Given the description of an element on the screen output the (x, y) to click on. 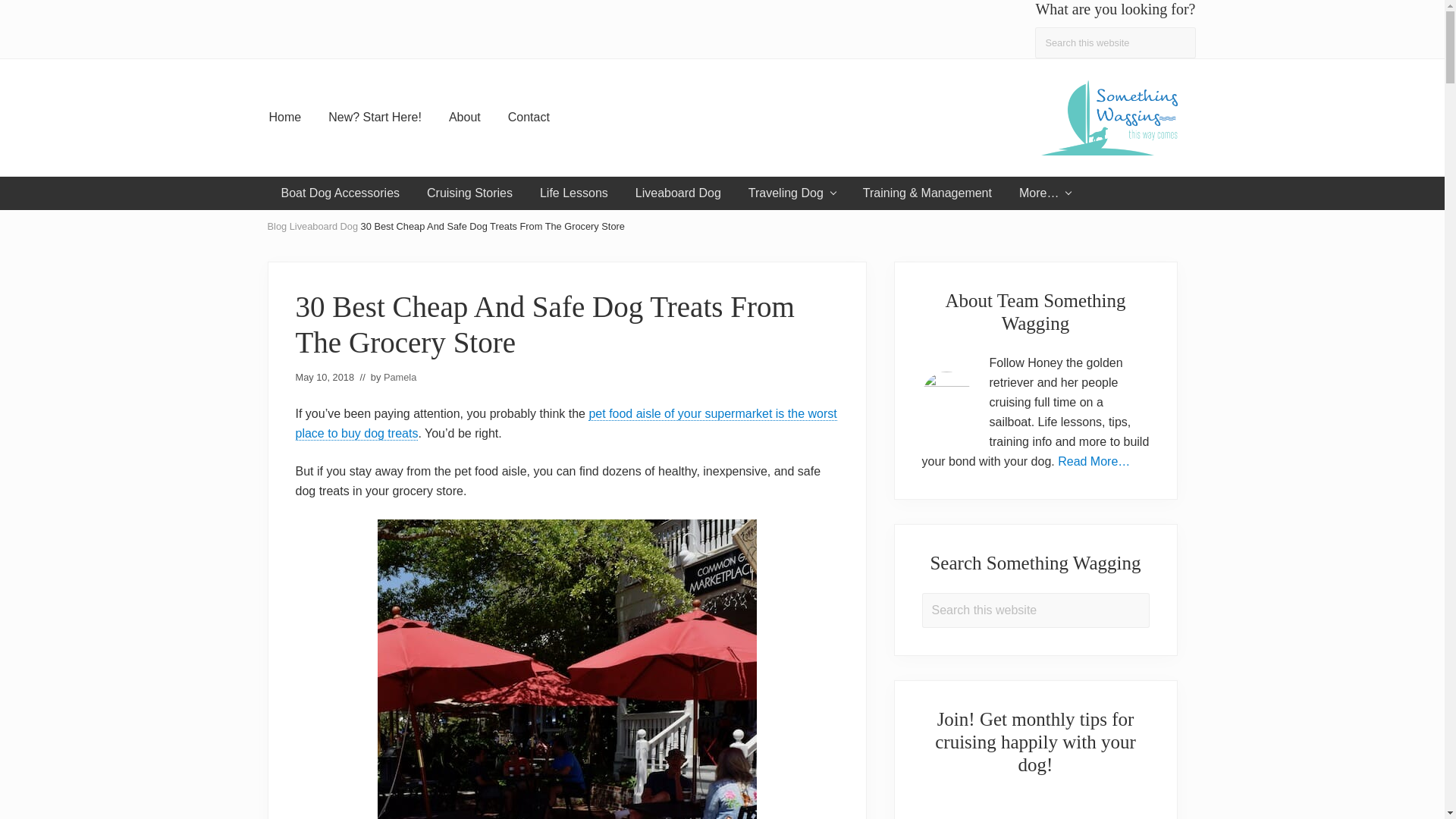
About (464, 117)
Liveaboard Dog (678, 192)
Contact (529, 117)
Liveaboard Dog (323, 225)
Blog (276, 225)
Home (284, 117)
Cruising Stories (469, 192)
Life Lessons (573, 192)
Traveling Dog (791, 192)
New? Start Here! (374, 117)
